Given the description of an element on the screen output the (x, y) to click on. 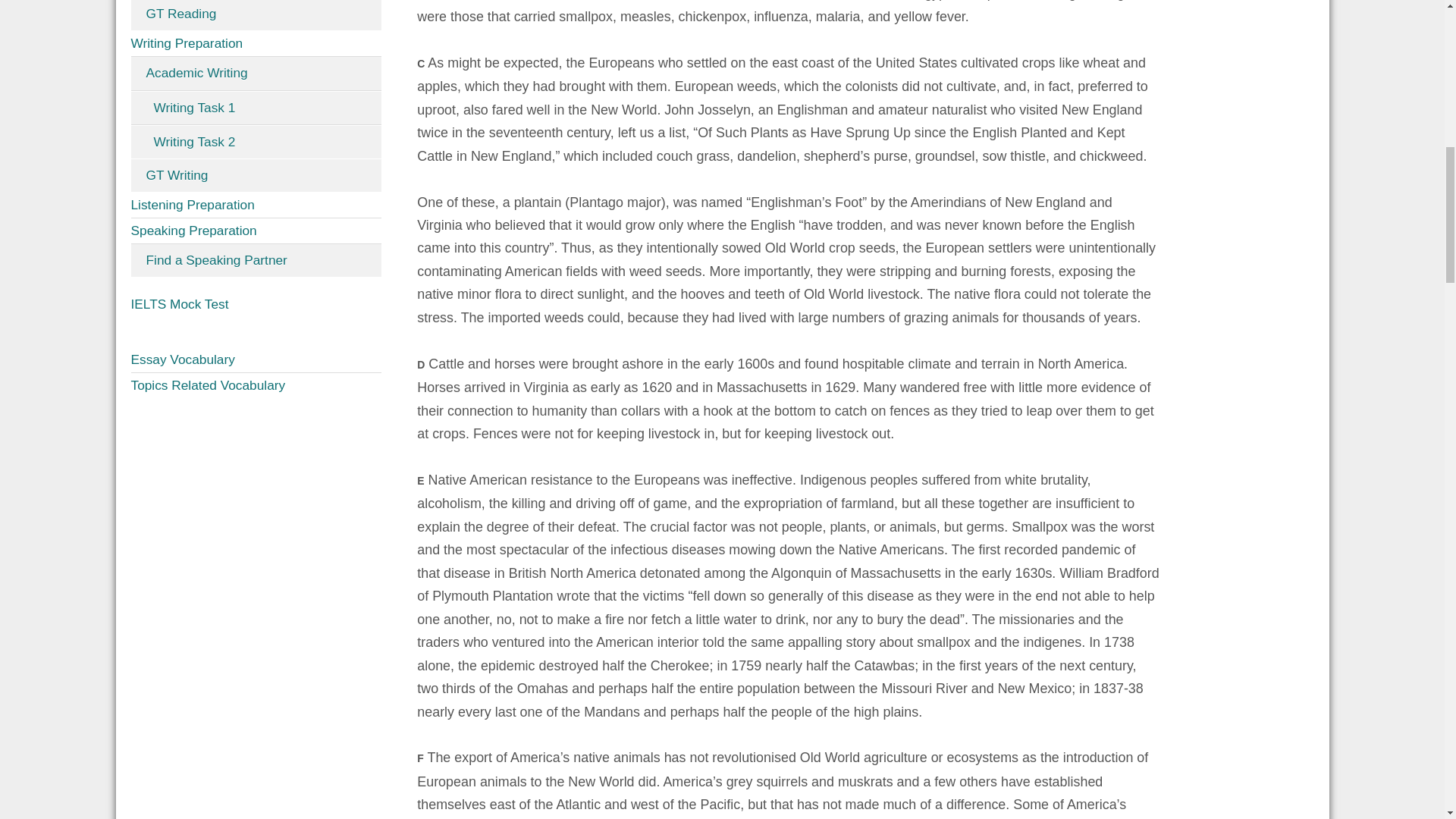
GT Writing (256, 174)
Writing Task 1 (256, 108)
Listening Preparation (256, 205)
IELTS Mock Test (256, 303)
Speaking Preparation (256, 231)
Find a Speaking Partner (256, 260)
GT Reading (256, 15)
Writing Preparation (256, 43)
Writing Task 2 (256, 142)
Academic Writing (256, 73)
